Given the description of an element on the screen output the (x, y) to click on. 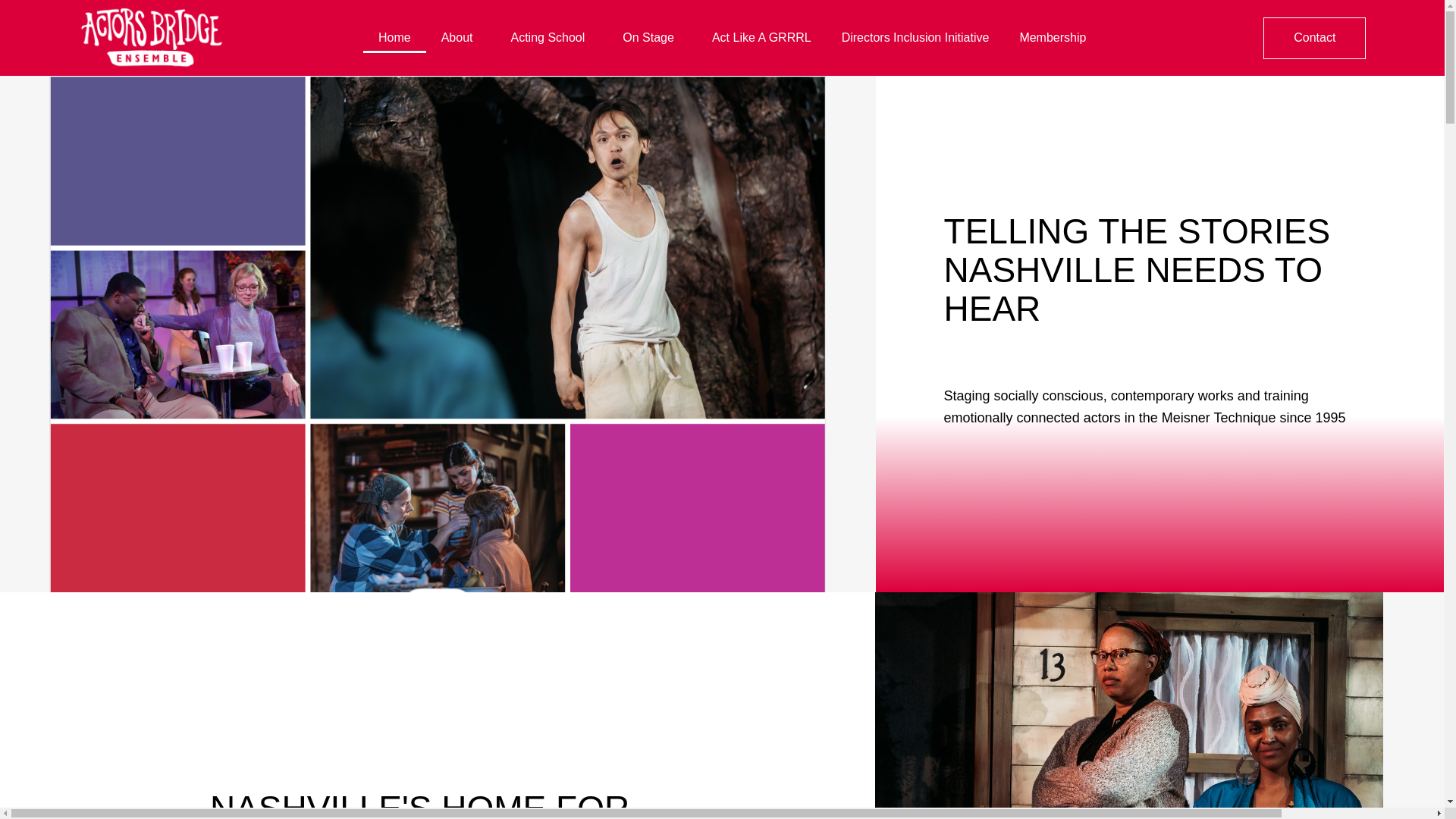
Directors Inclusion Initiative (915, 37)
Home (394, 37)
Act Like A GRRRL (762, 37)
On Stage (652, 37)
Contact (1314, 37)
Acting School (551, 37)
About (461, 37)
Membership (1052, 37)
